Given the description of an element on the screen output the (x, y) to click on. 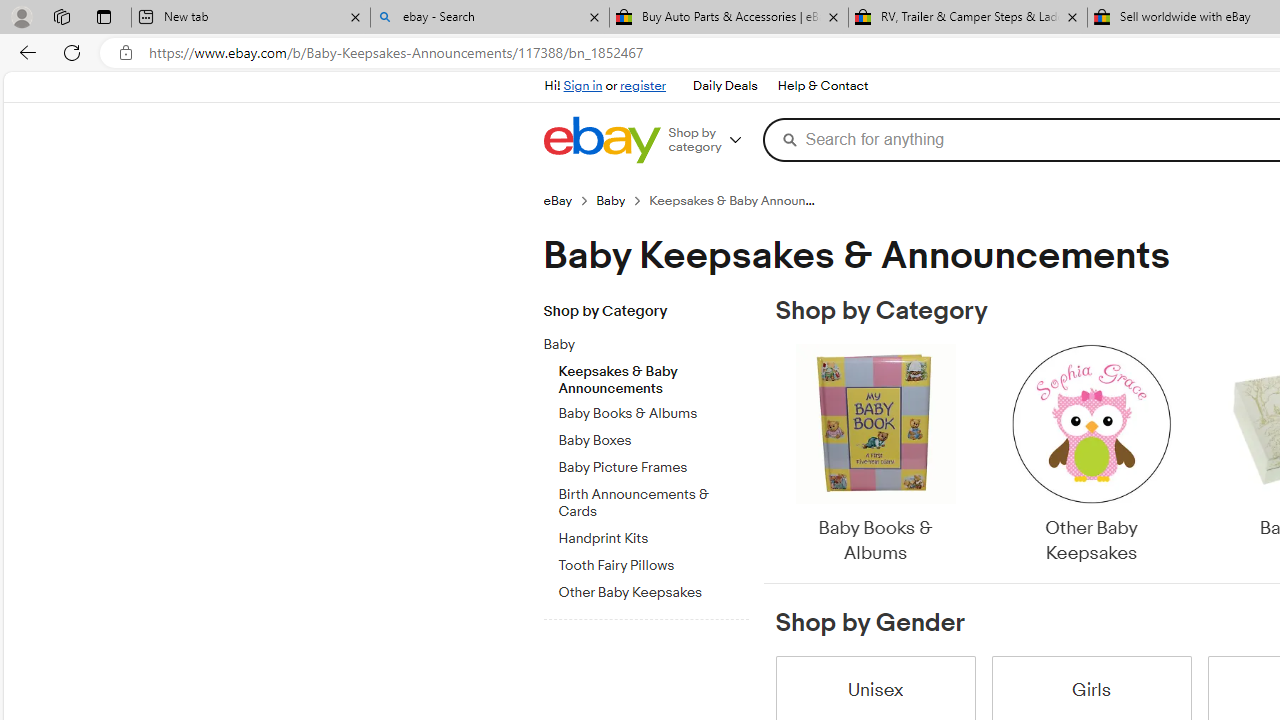
eBay Home (601, 139)
Tooth Fairy Pillows (653, 562)
Help & Contact (821, 85)
Baby Picture Frames (653, 468)
Baby Picture Frames (653, 464)
Baby Books & Albums (874, 455)
eBay Home (601, 139)
Daily Deals (724, 85)
eBay (557, 200)
Birth Announcements & Cards (653, 500)
Baby Boxes (653, 437)
Baby (653, 341)
